Given the description of an element on the screen output the (x, y) to click on. 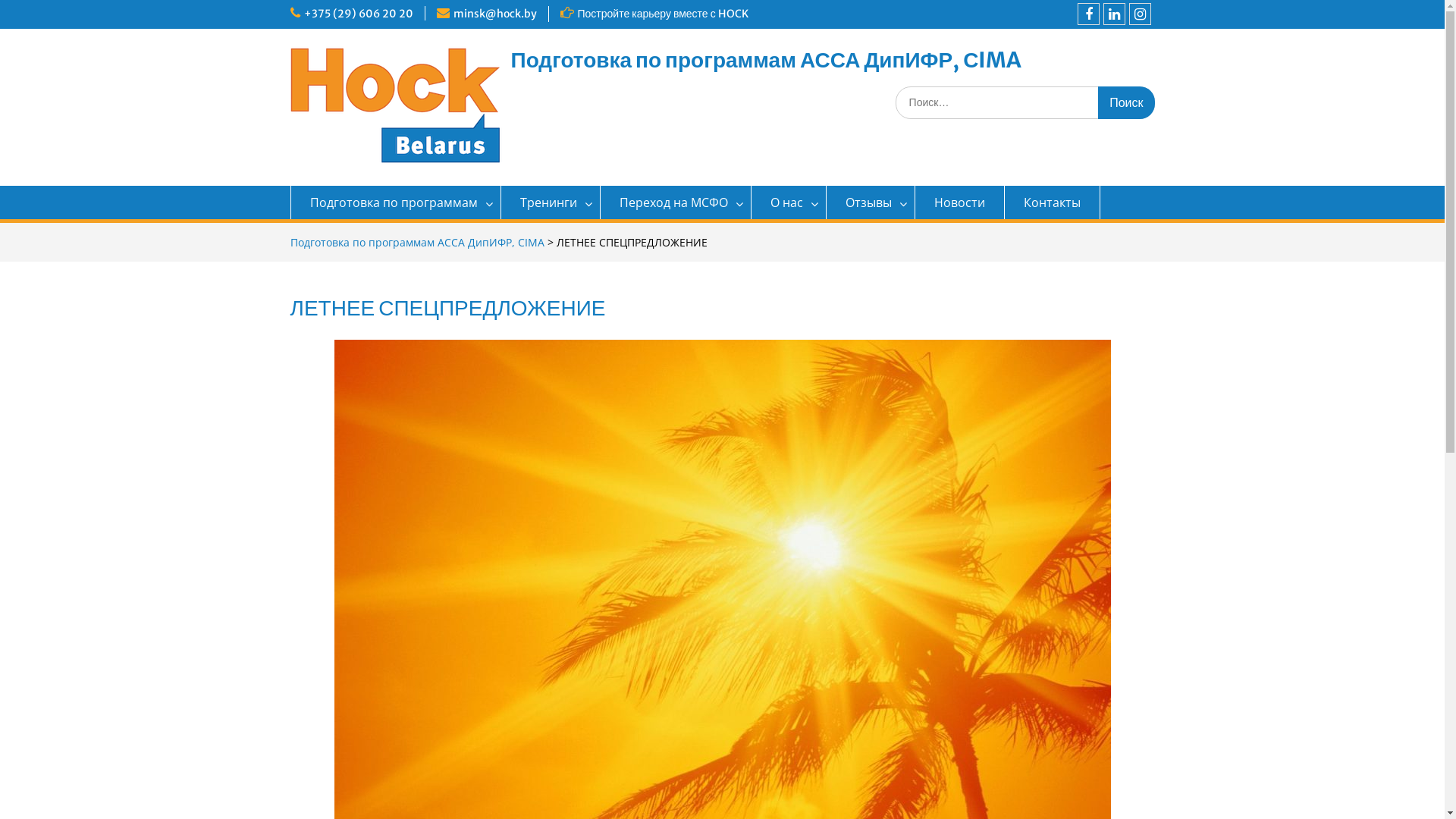
+375 (29) 606 20 20 Element type: text (357, 13)
minsk@hock.by Element type: text (494, 13)
